Given the description of an element on the screen output the (x, y) to click on. 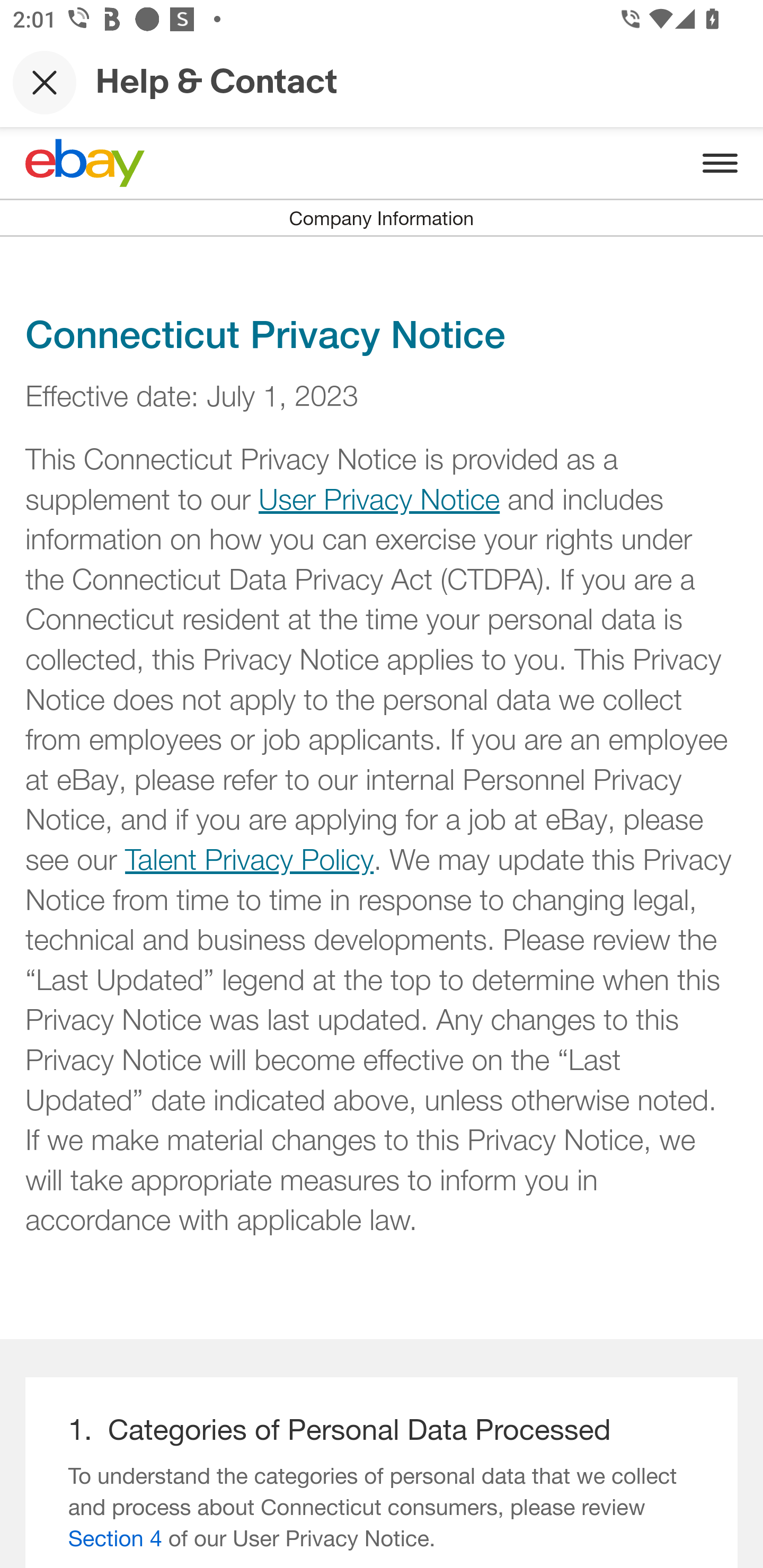
Close (44, 82)
backpack (381, 330)
